Given the description of an element on the screen output the (x, y) to click on. 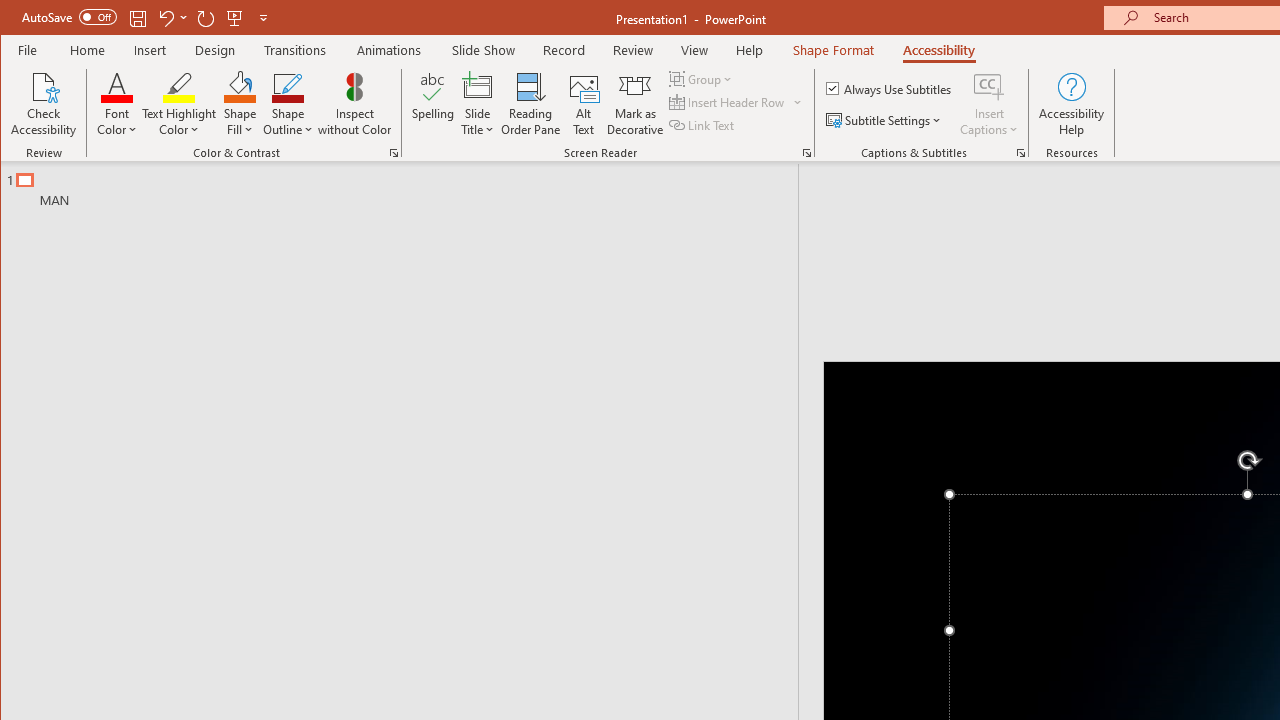
Accessibility Help (1071, 104)
Insert Captions (989, 104)
Insert Header Row (735, 101)
Slide Title (477, 104)
Text Highlight Color No Color (178, 86)
Captions & Subtitles (1020, 152)
Reading Order Pane (531, 104)
